Given the description of an element on the screen output the (x, y) to click on. 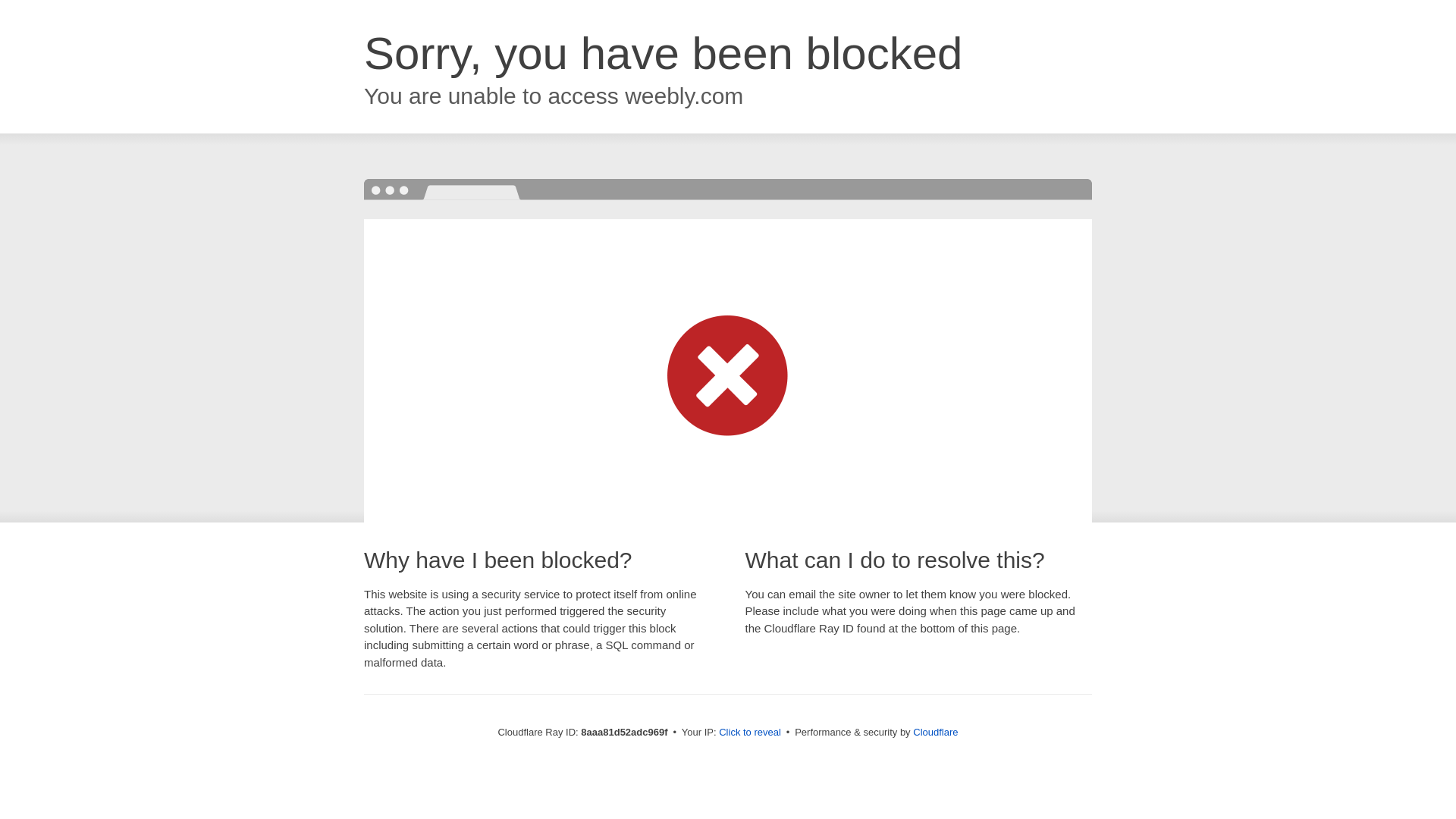
Cloudflare (935, 731)
Click to reveal (749, 732)
